Given the description of an element on the screen output the (x, y) to click on. 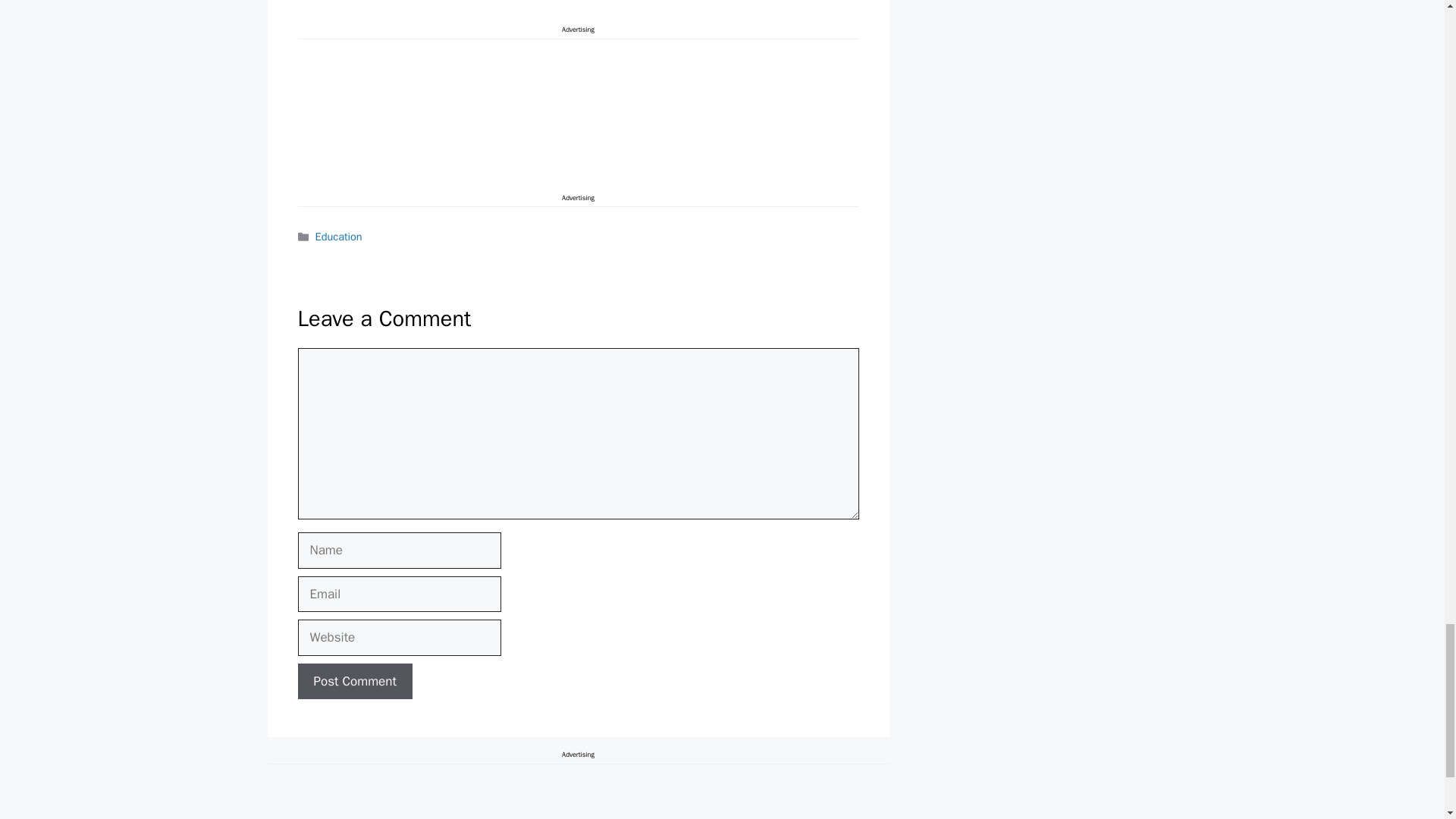
Post Comment (354, 681)
Post Comment (354, 681)
Education (338, 236)
Advertising (578, 6)
